Given the description of an element on the screen output the (x, y) to click on. 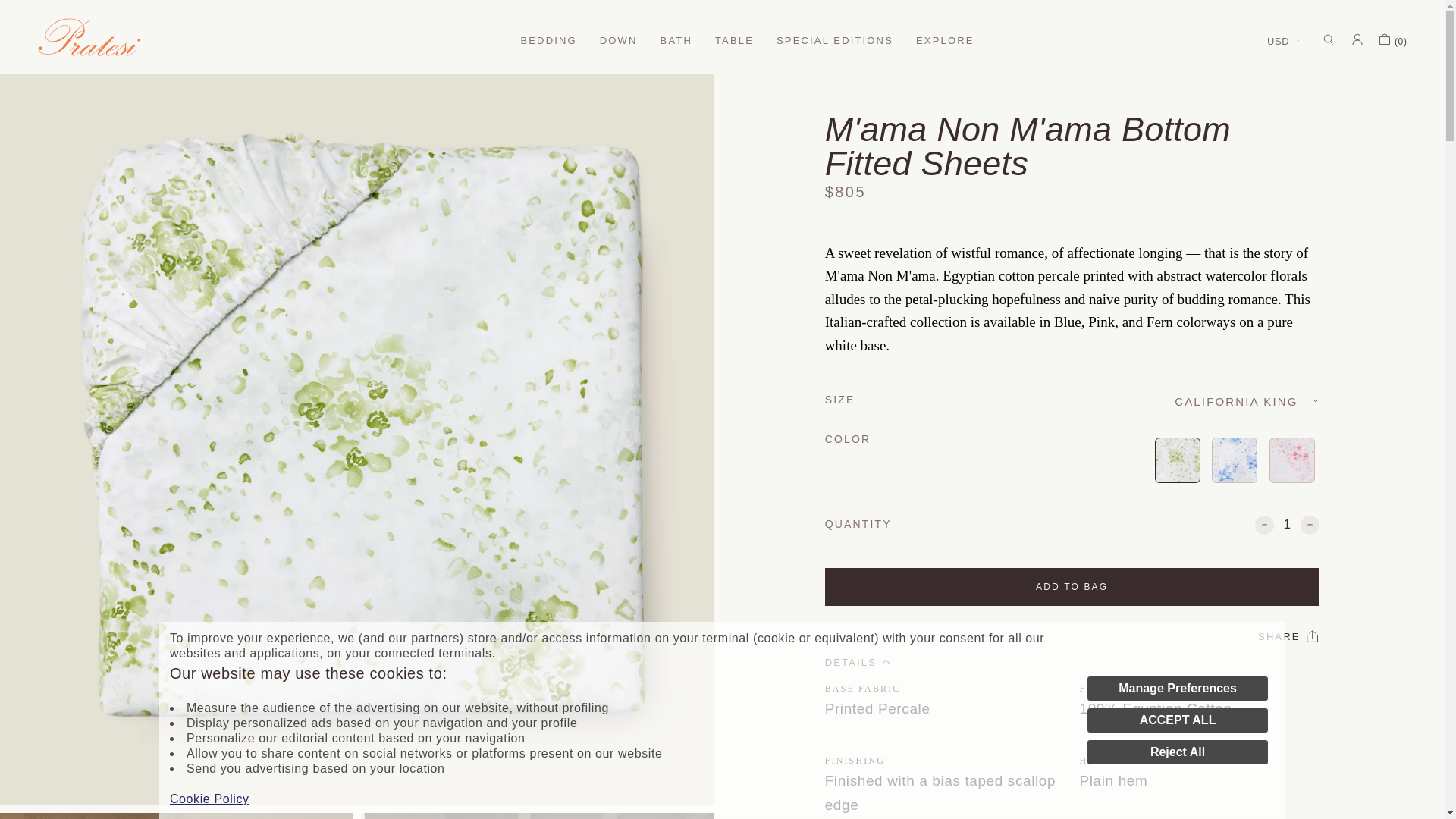
ACCEPT ALL (1177, 720)
Manage Preferences (1177, 688)
Cookie Policy (209, 798)
Reject All (1177, 751)
Currency selector (1286, 40)
1 (1287, 524)
